Given the description of an element on the screen output the (x, y) to click on. 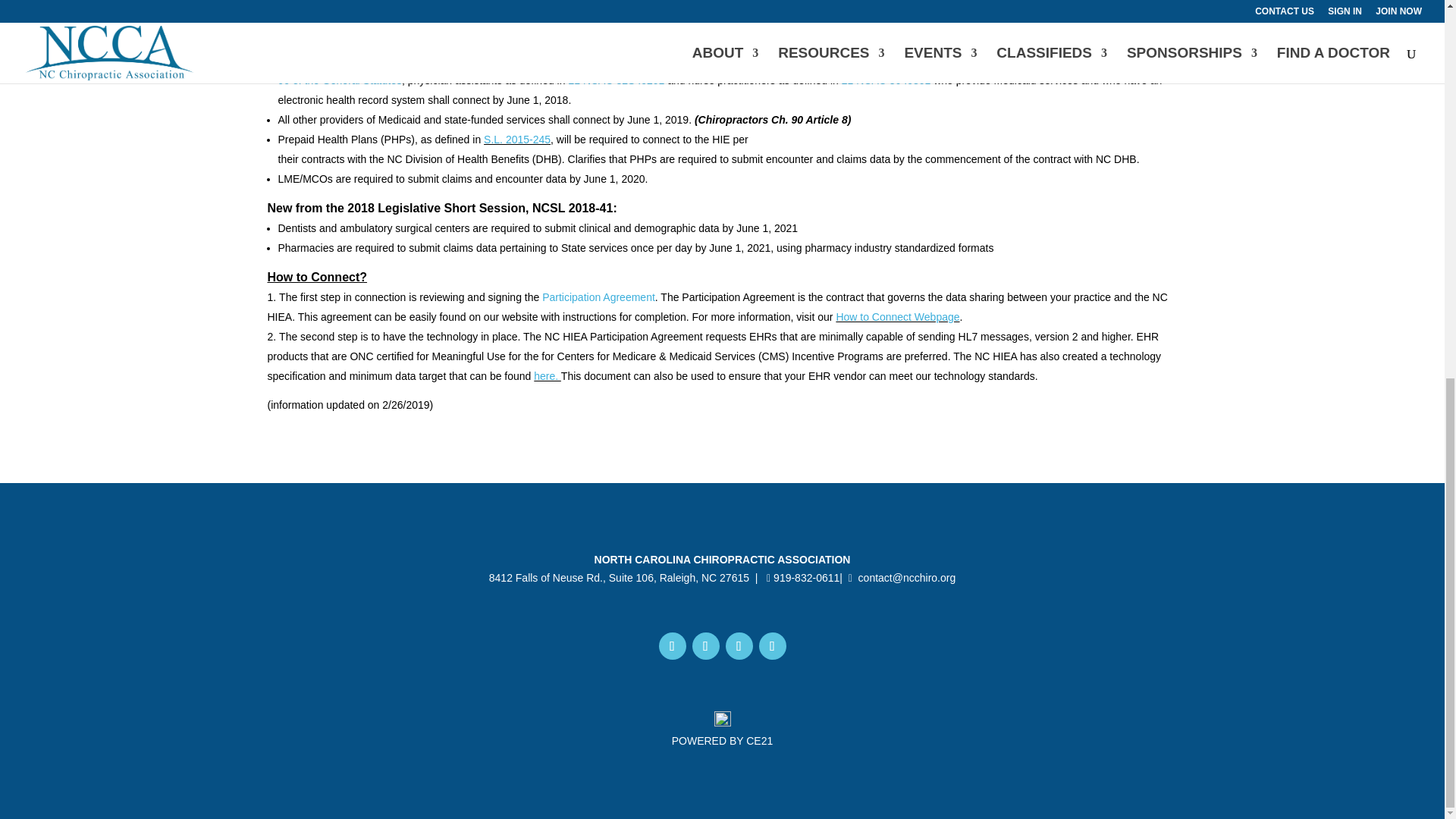
Follow on Instagram (738, 646)
Follow on Facebook (705, 646)
Follow on Youtube (671, 646)
Follow on X (772, 646)
